Given the description of an element on the screen output the (x, y) to click on. 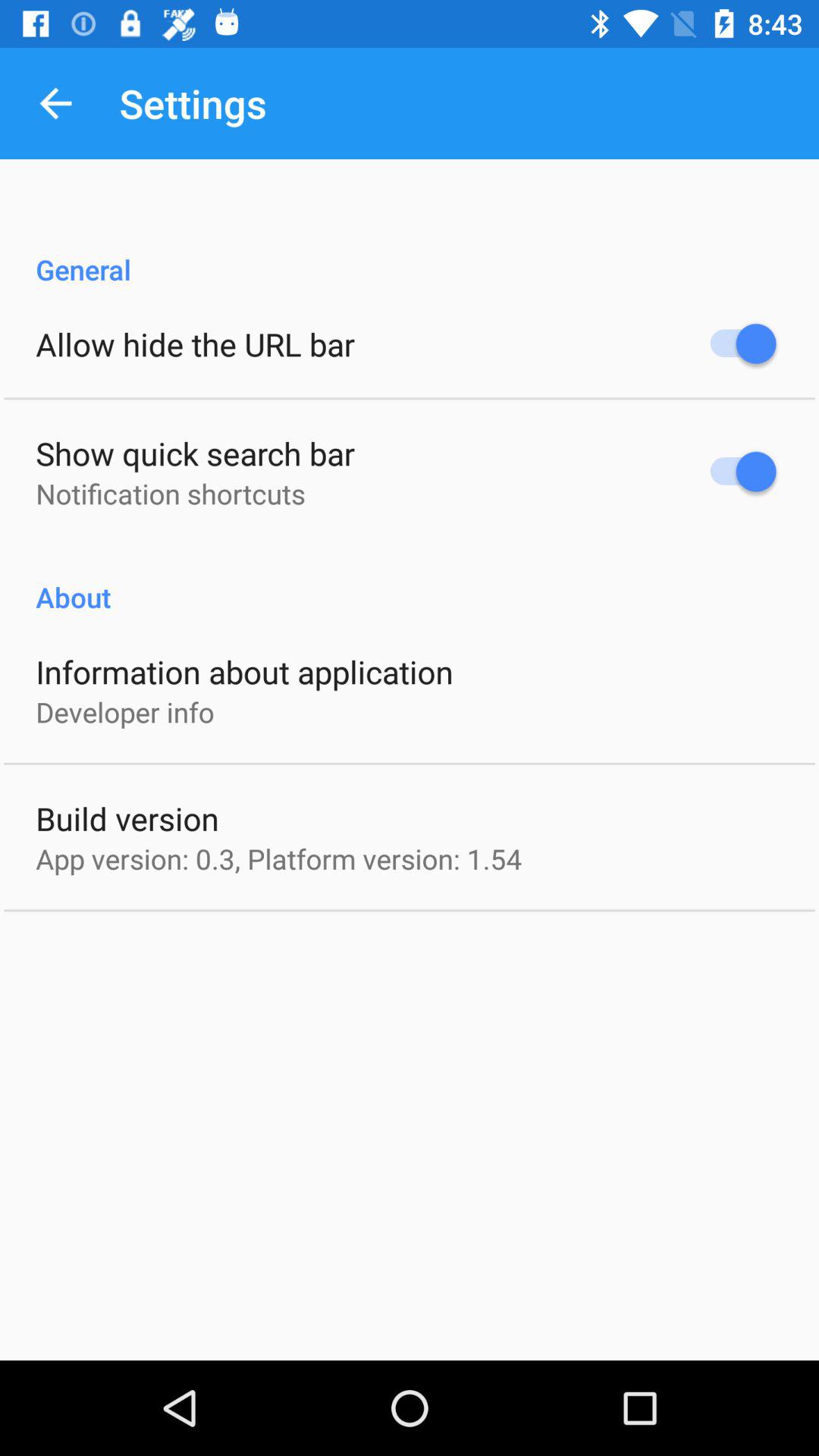
press the icon above notification shortcuts (194, 452)
